Given the description of an element on the screen output the (x, y) to click on. 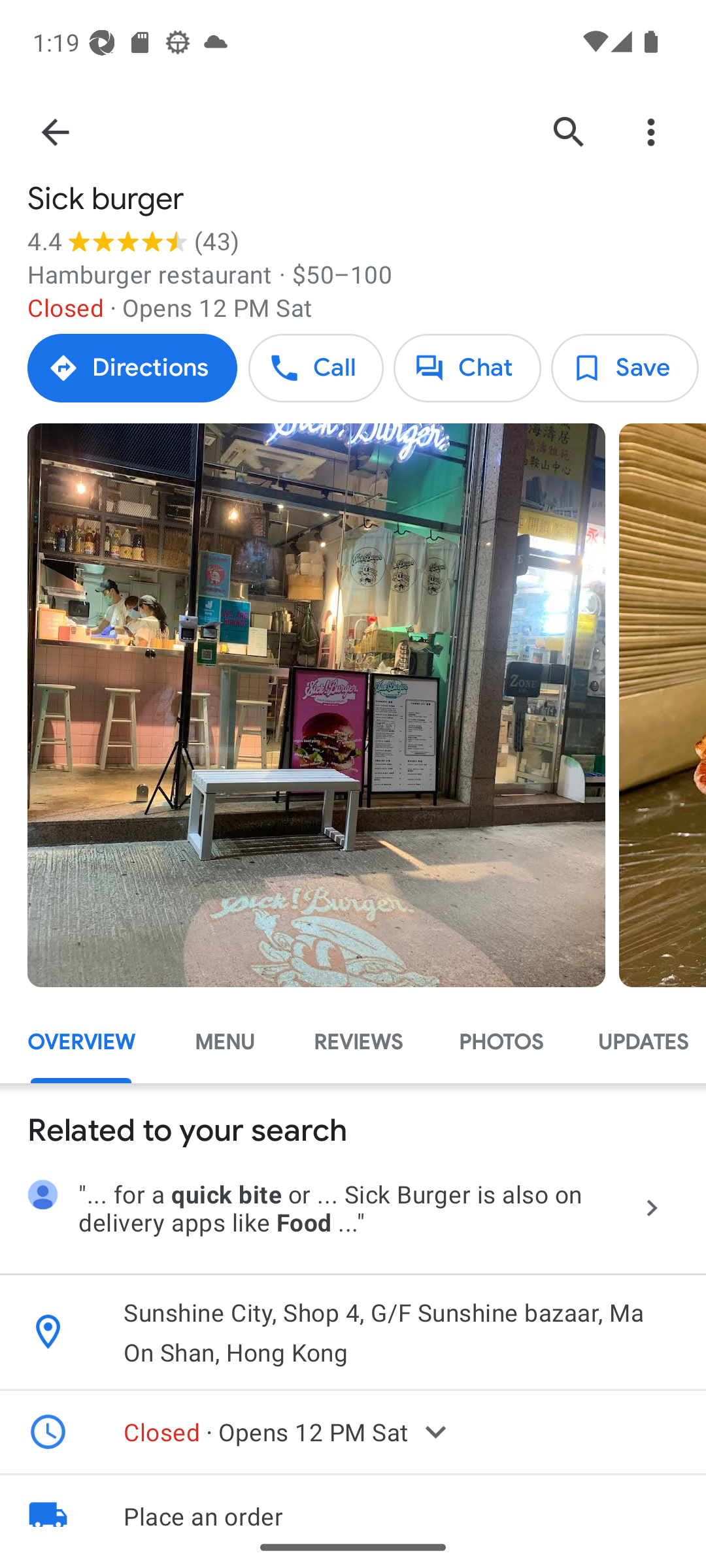
Back to Search (54, 131)
Search (568, 131)
More options for Sick burger (650, 131)
Chat (467, 368)
MENU Menu (224, 1041)
REVIEWS Reviews (358, 1041)
PHOTOS Photos (500, 1041)
UPDATES Updates (638, 1041)
Place an order (353, 1501)
